Given the description of an element on the screen output the (x, y) to click on. 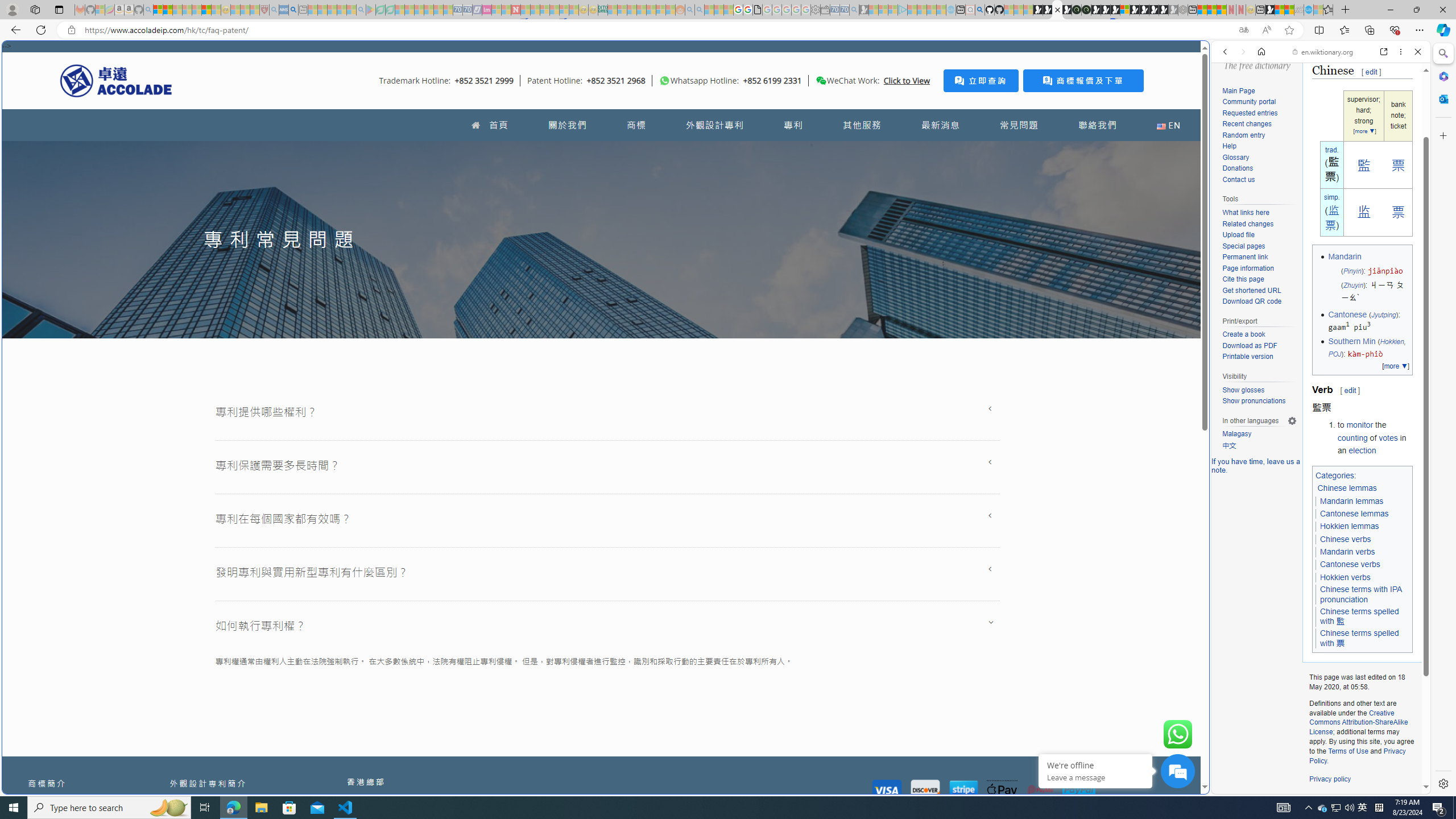
Pets - MSN - Sleeping (340, 9)
Wiktionary (1315, 380)
Terms of Use Agreement - Sleeping (380, 9)
Utah sues federal government - Search - Sleeping (699, 9)
